Given the description of an element on the screen output the (x, y) to click on. 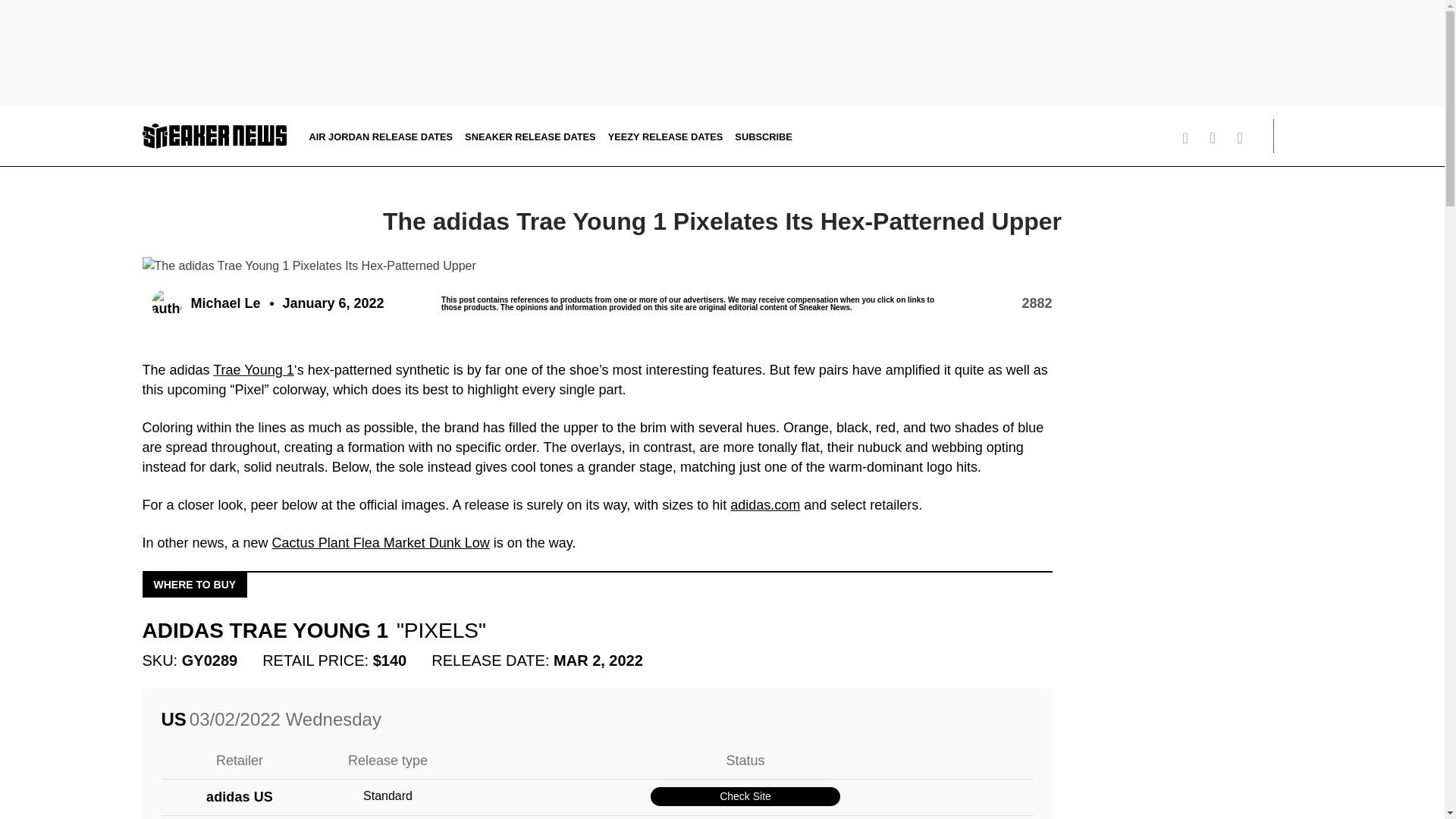
adidas.com (764, 504)
SNEAKER RELEASE DATES (529, 135)
Instagram (1217, 137)
adidas US (239, 797)
Skip to main content (4, 121)
YEEZY RELEASE DATES (665, 135)
Discord (1163, 137)
Search (1292, 136)
Twitter (1190, 137)
Trae Young 1 (253, 369)
